Given the description of an element on the screen output the (x, y) to click on. 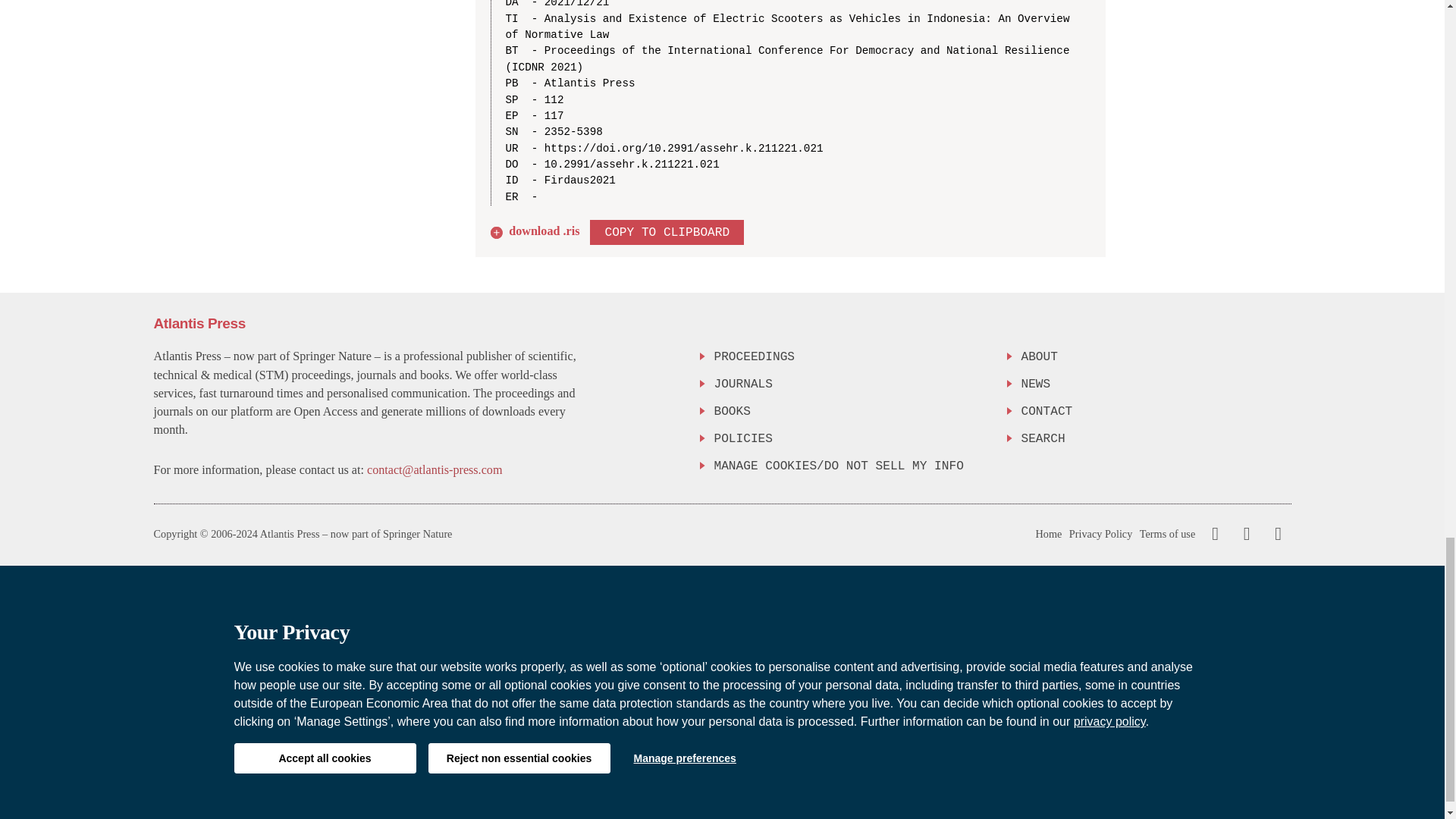
Facebook (1215, 533)
LinkedIn (1275, 533)
Twitter (1243, 533)
